Given the description of an element on the screen output the (x, y) to click on. 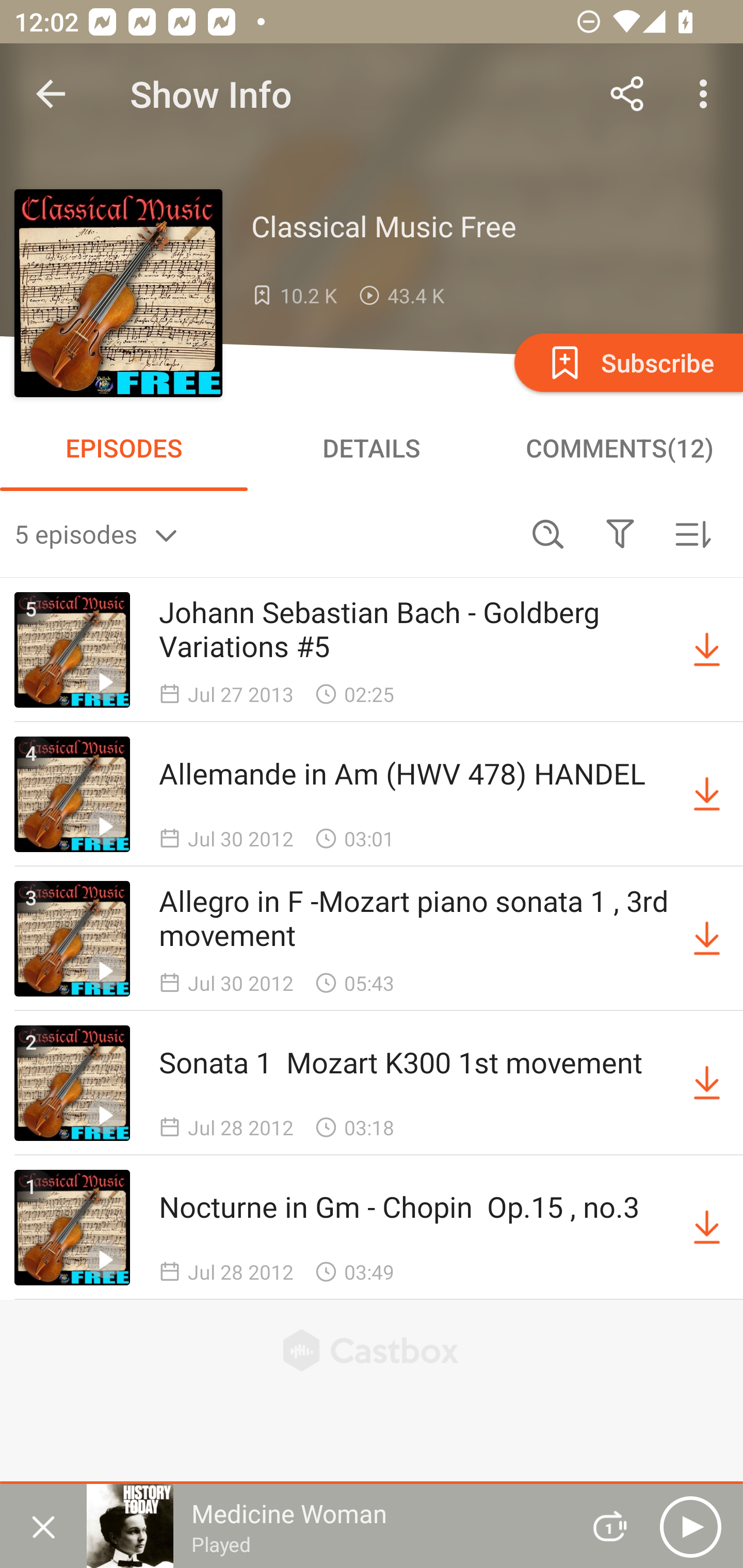
Navigate up (50, 93)
Share (626, 93)
More options (706, 93)
Subscribe (627, 361)
EPISODES (123, 447)
DETAILS (371, 447)
COMMENTS(12) (619, 447)
5 episodes  (262, 533)
 Search (547, 533)
 (619, 533)
 Sorted by newest first (692, 533)
Download (706, 649)
Download (706, 793)
Download (706, 939)
Download (706, 1083)
Download (706, 1227)
Medicine Woman Played (326, 1525)
Play (690, 1526)
